Given the description of an element on the screen output the (x, y) to click on. 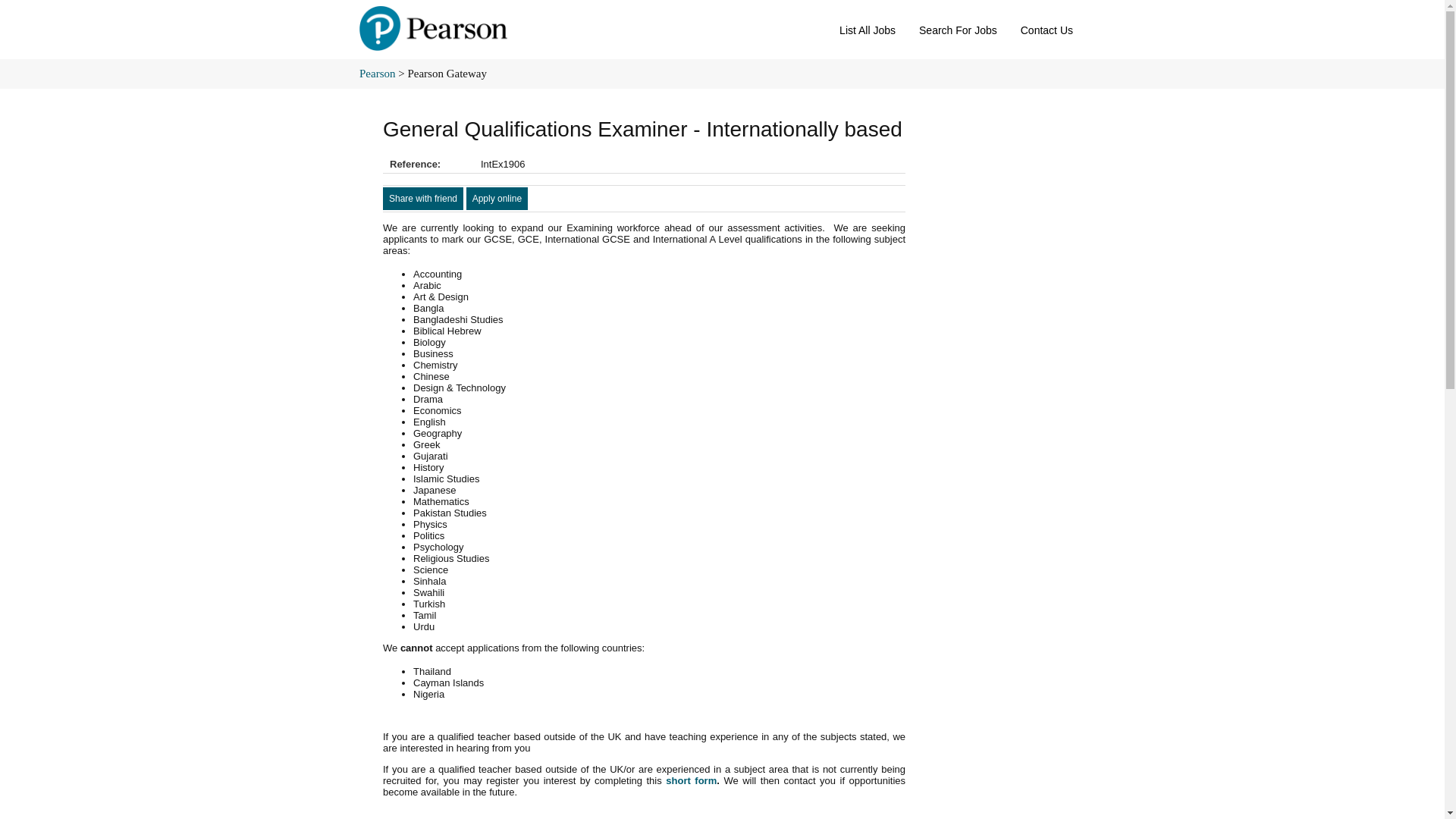
Contact Us (1046, 27)
Share with friend (422, 198)
List All Jobs (867, 27)
Search For Jobs (958, 27)
Pearson (377, 73)
Apply online (496, 198)
short form (690, 780)
